Given the description of an element on the screen output the (x, y) to click on. 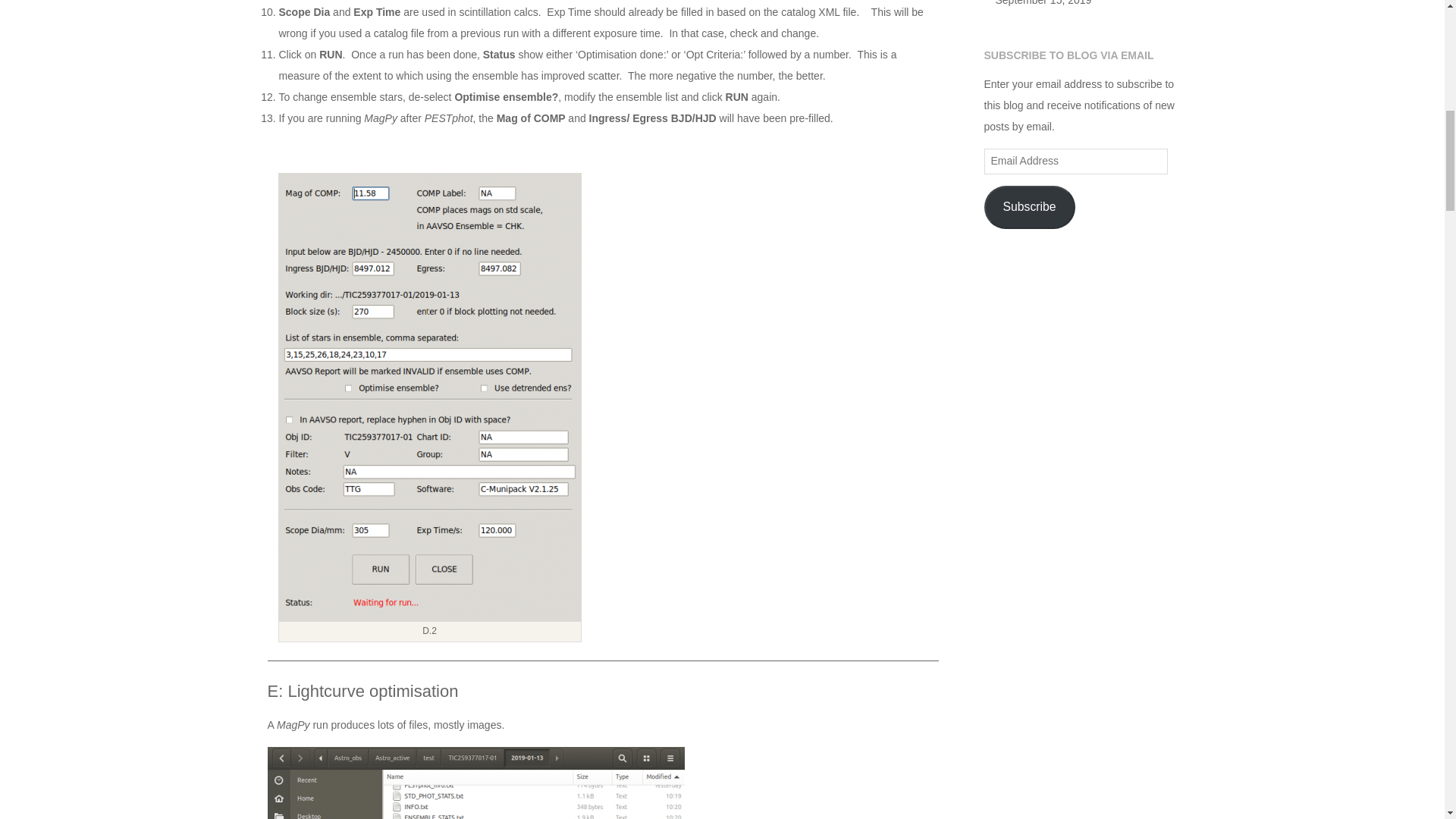
Subscribe (1029, 207)
